Given the description of an element on the screen output the (x, y) to click on. 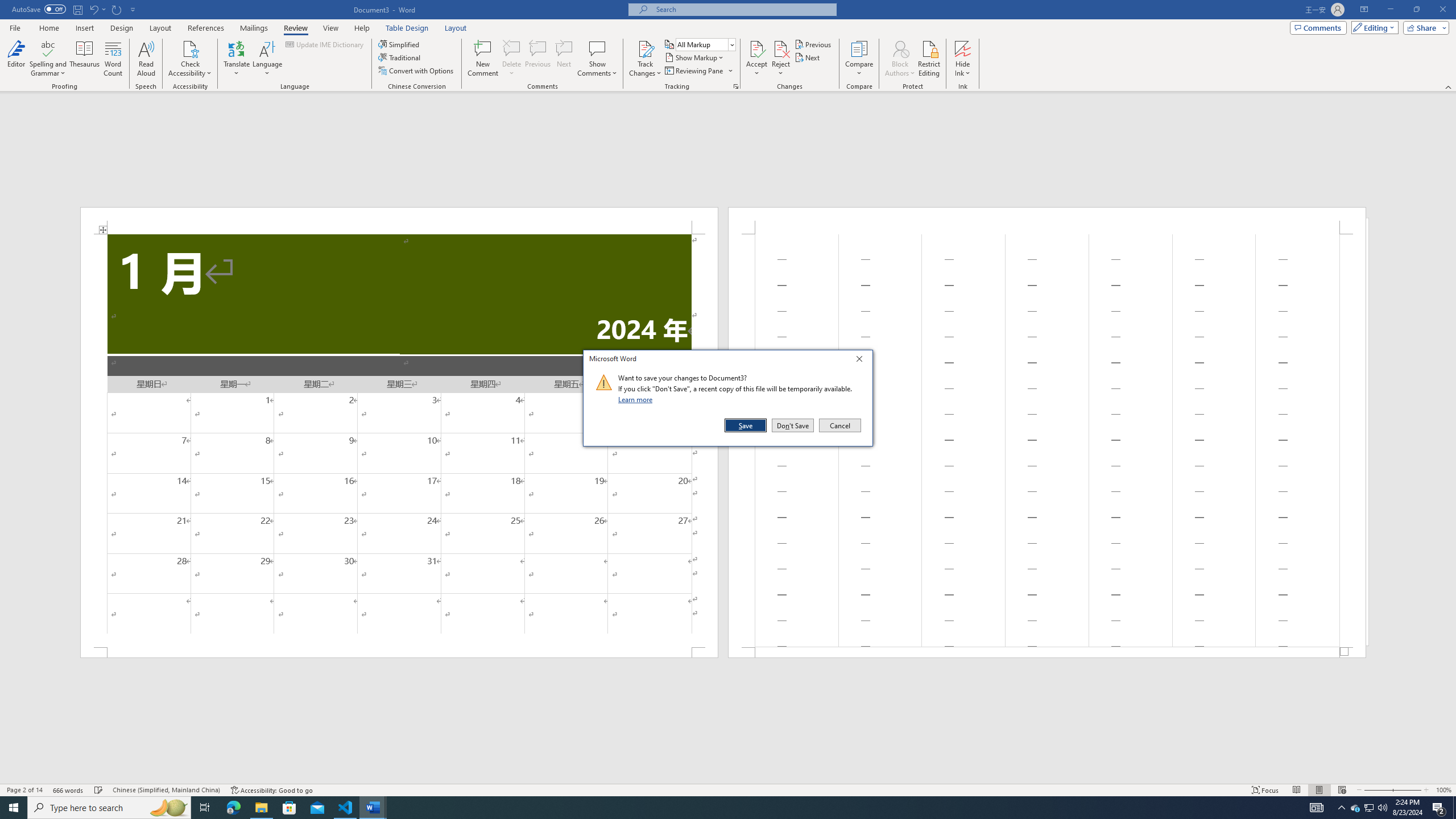
Class: NetUIScrollBar (728, 778)
Show desktop (1454, 807)
New Comment (1355, 807)
Microsoft Store (482, 58)
Reviewing Pane (289, 807)
Show Markup (698, 69)
Thesaurus... (695, 56)
Spelling and Grammar Check Checking (84, 58)
Track Changes (98, 790)
Block Authors (644, 58)
